Given the description of an element on the screen output the (x, y) to click on. 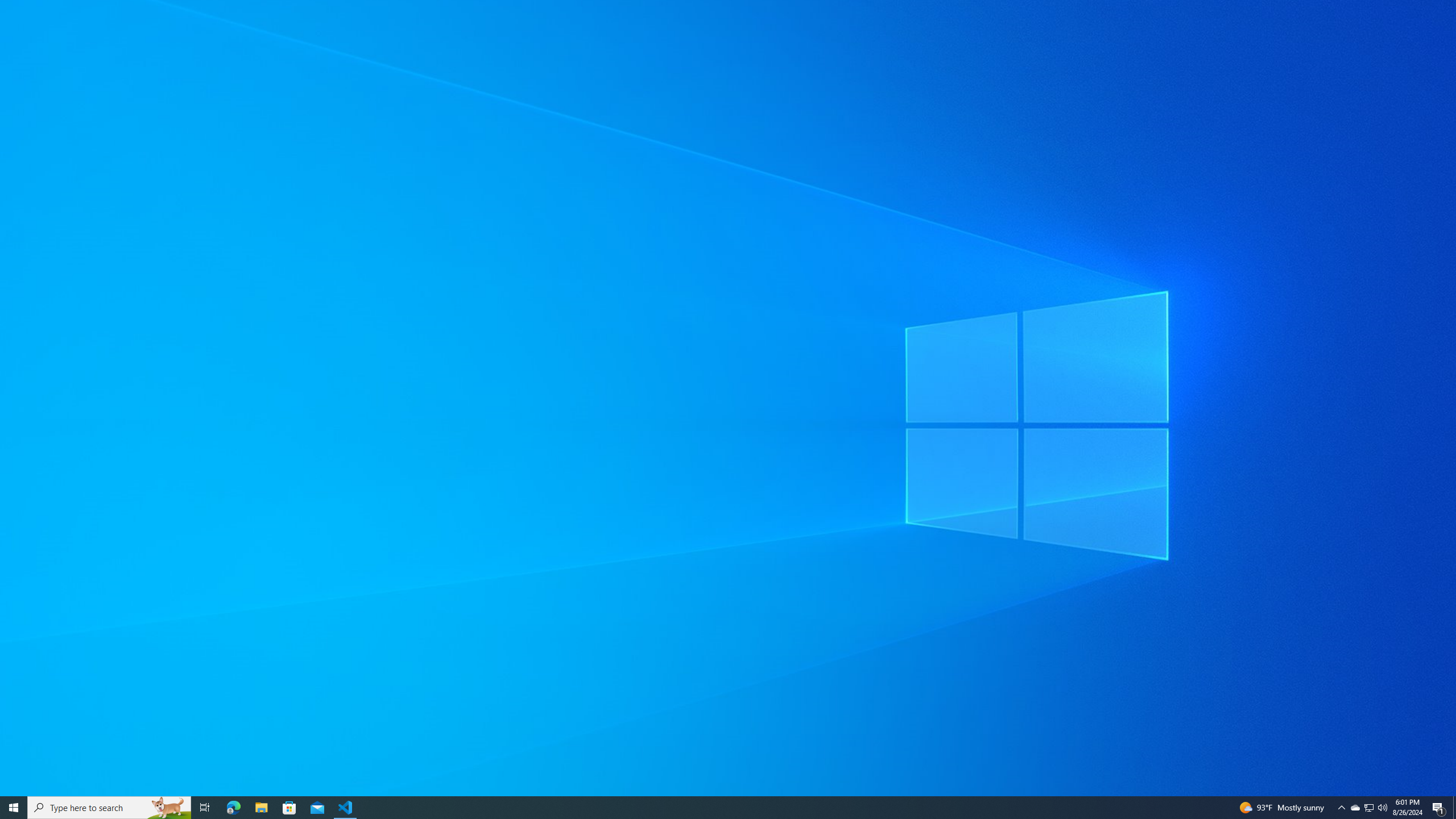
Show desktop (1454, 807)
Q2790: 100% (1382, 807)
Start (13, 807)
